Given the description of an element on the screen output the (x, y) to click on. 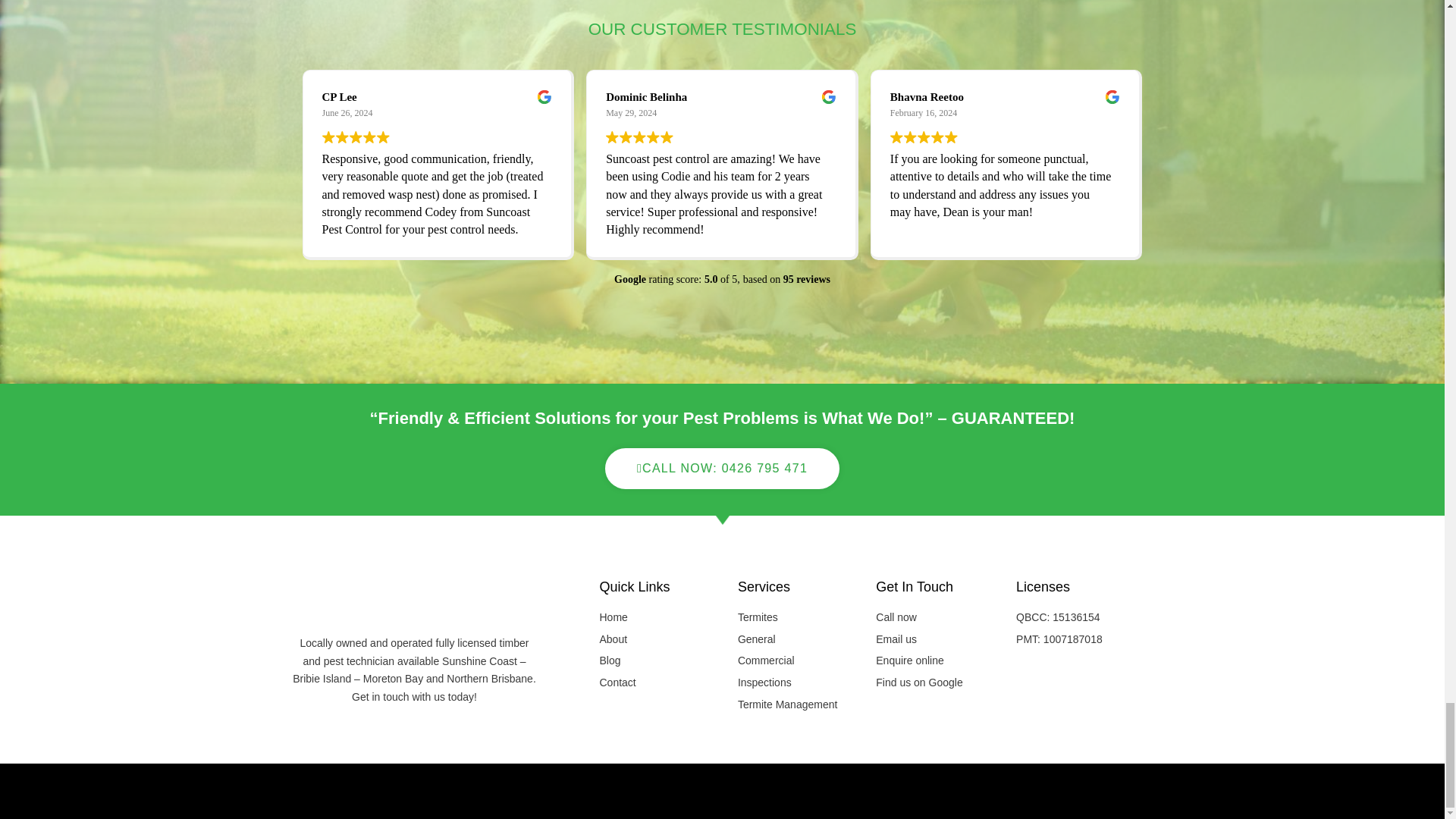
business.localsearch.com.au (722, 790)
